Given the description of an element on the screen output the (x, y) to click on. 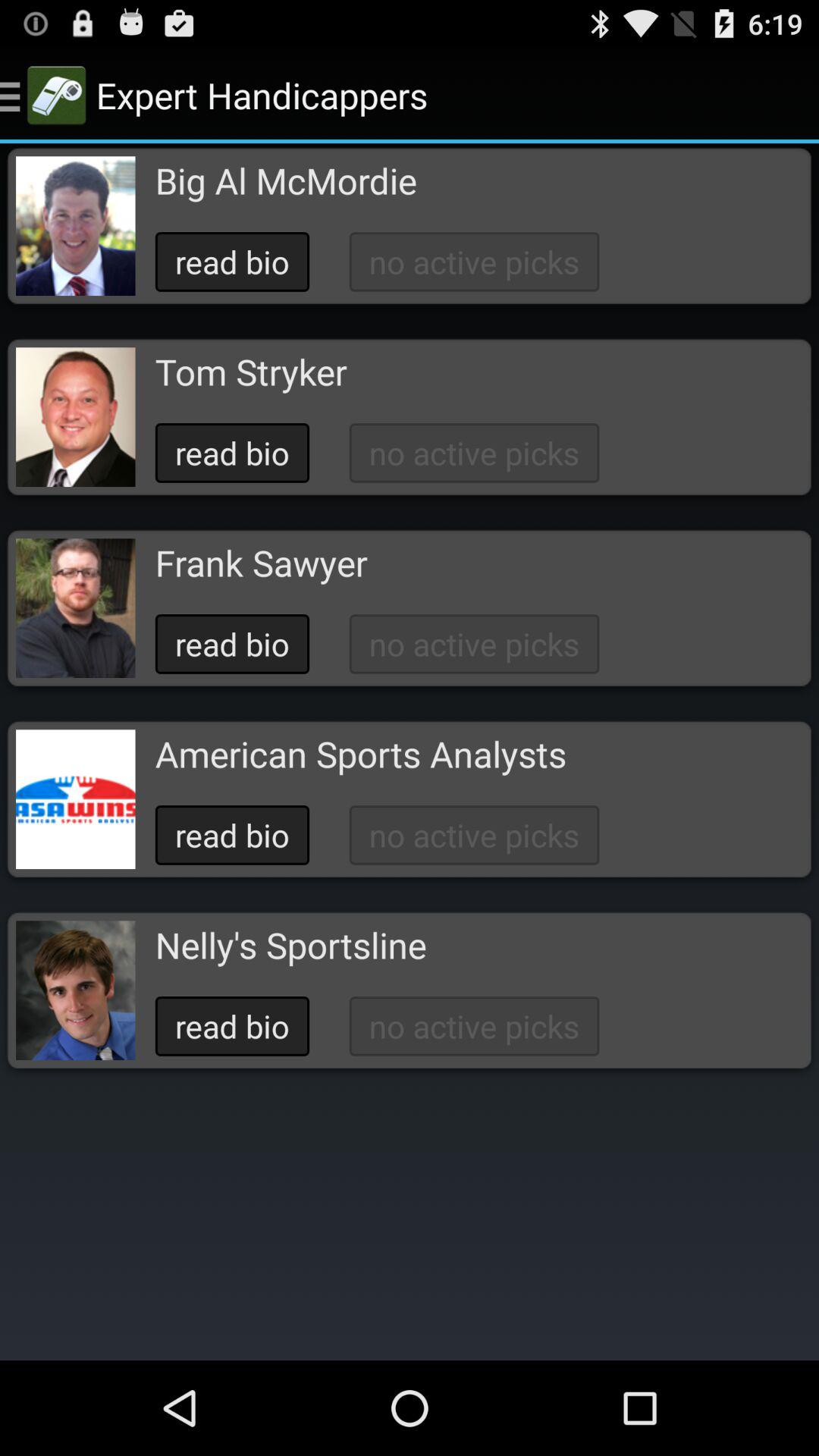
click button above the read bio icon (290, 944)
